Given the description of an element on the screen output the (x, y) to click on. 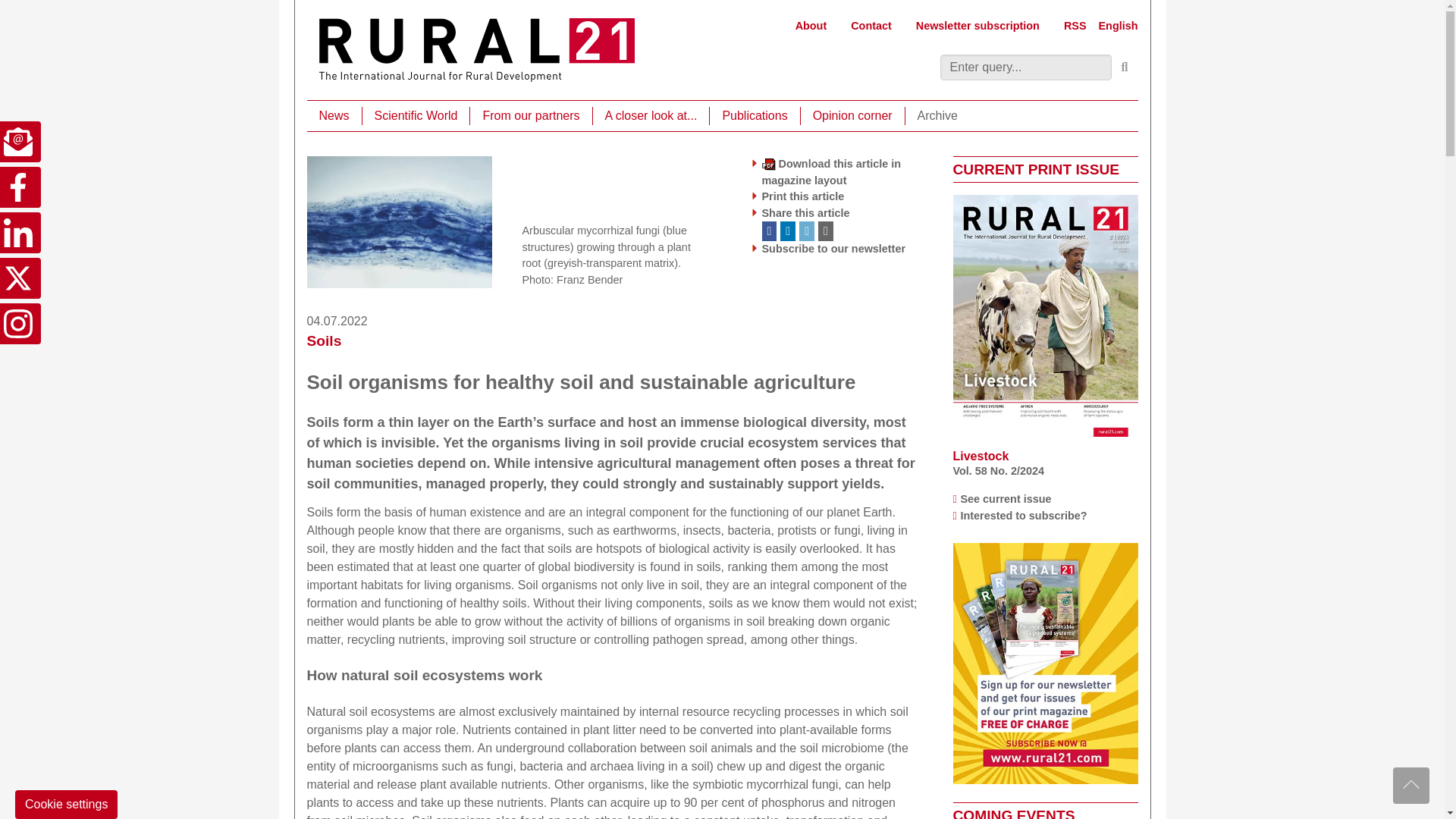
Newsletter subscription (977, 26)
Contact (871, 26)
About (811, 26)
Search (1125, 67)
News (333, 116)
Contact (871, 26)
Scientific World (416, 116)
From our partners (530, 116)
English (1118, 25)
RSS (1075, 26)
